Given the description of an element on the screen output the (x, y) to click on. 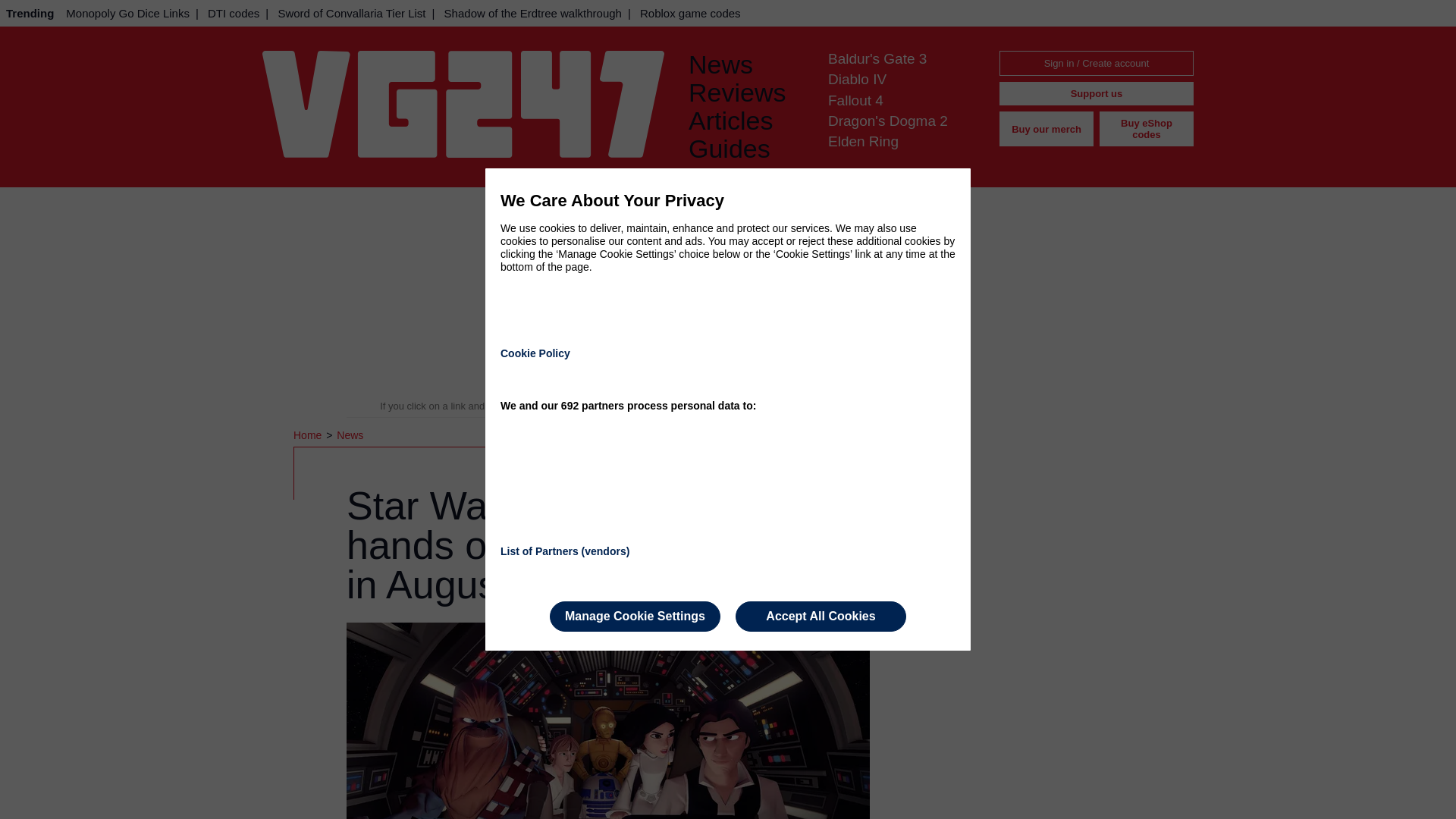
Baldur's Gate 3 (877, 58)
Guides (745, 148)
Home (309, 435)
Monopoly Go Dice Links (127, 13)
Shadow of the Erdtree walkthrough (532, 13)
Shadow of the Erdtree walkthrough (532, 13)
Home (309, 435)
Roblox game codes (689, 13)
News (745, 64)
Elden Ring (863, 141)
